Given the description of an element on the screen output the (x, y) to click on. 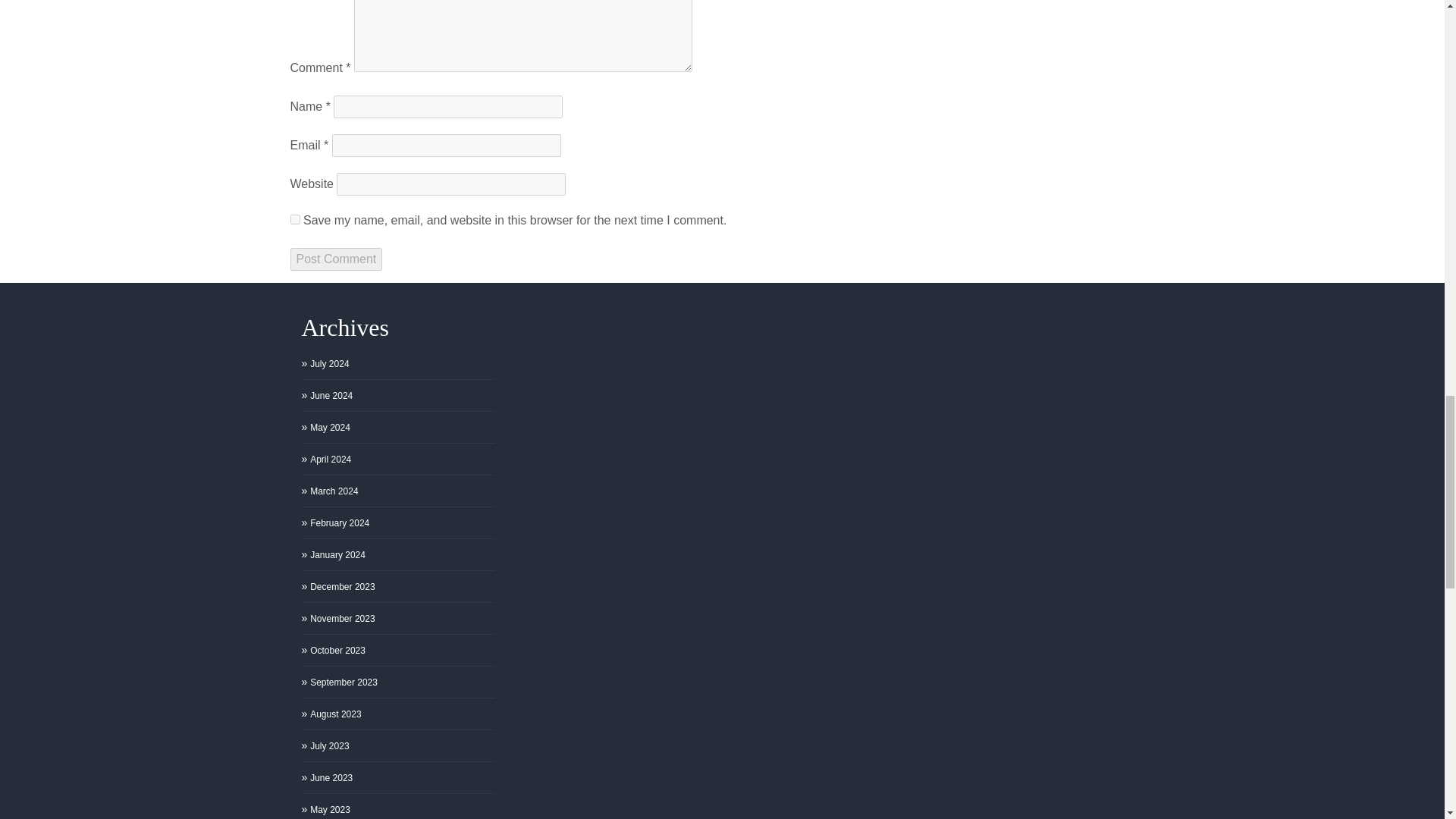
Post Comment (335, 259)
yes (294, 219)
Post Comment (335, 259)
November 2023 (342, 618)
June 2024 (331, 395)
May 2024 (330, 427)
January 2024 (337, 554)
March 2024 (334, 490)
July 2024 (329, 364)
October 2023 (337, 650)
December 2023 (342, 586)
February 2024 (339, 522)
April 2024 (330, 459)
